Given the description of an element on the screen output the (x, y) to click on. 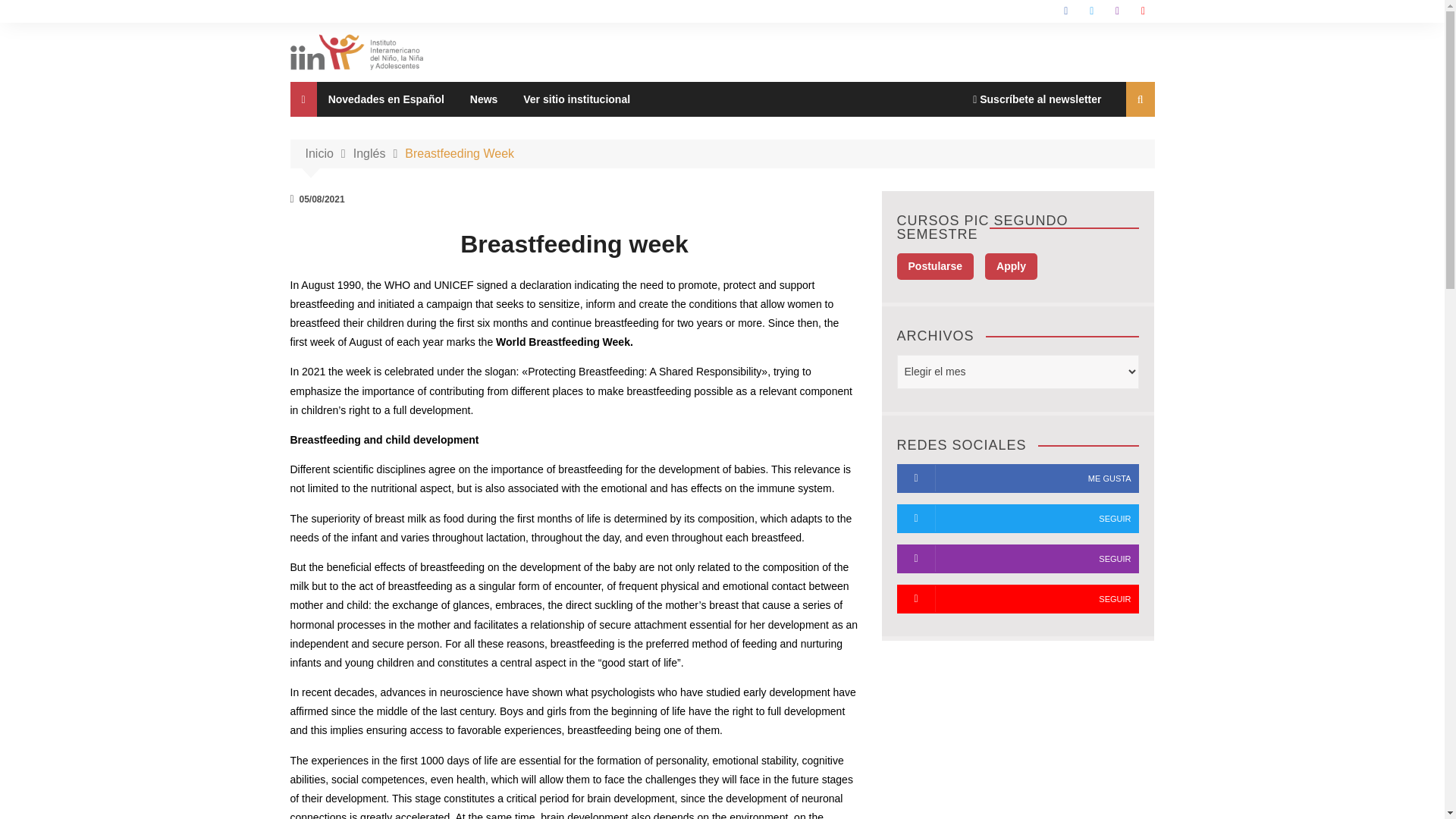
SEGUIR (1017, 598)
ME GUSTA (1017, 478)
Instagram (1117, 11)
Ver sitio institucional (577, 99)
SEGUIR (1017, 518)
Apply (1010, 266)
Inicio (328, 153)
Facebook (1065, 11)
SEGUIR (1017, 558)
News (483, 99)
Twitter (1091, 11)
YouTube (1142, 11)
Breastfeeding Week (458, 153)
Postularse (935, 266)
